Given the description of an element on the screen output the (x, y) to click on. 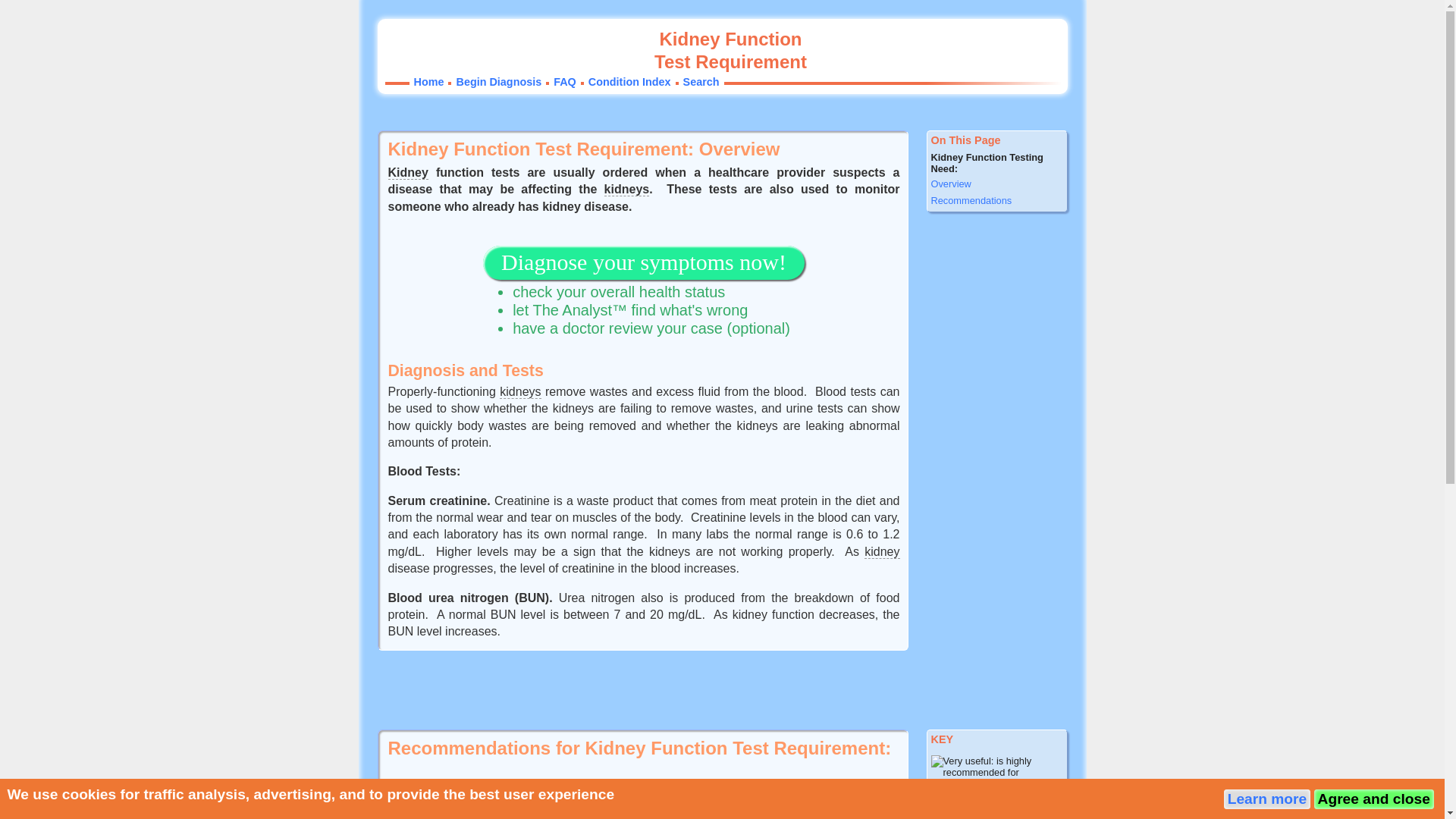
Urinalysis (453, 812)
kidneys (626, 189)
Search (700, 81)
Kidney (408, 172)
Recommendations (996, 200)
kidney (881, 551)
kidneys (519, 391)
Home (428, 81)
Overview (996, 183)
Learn more (1267, 798)
